Given the description of an element on the screen output the (x, y) to click on. 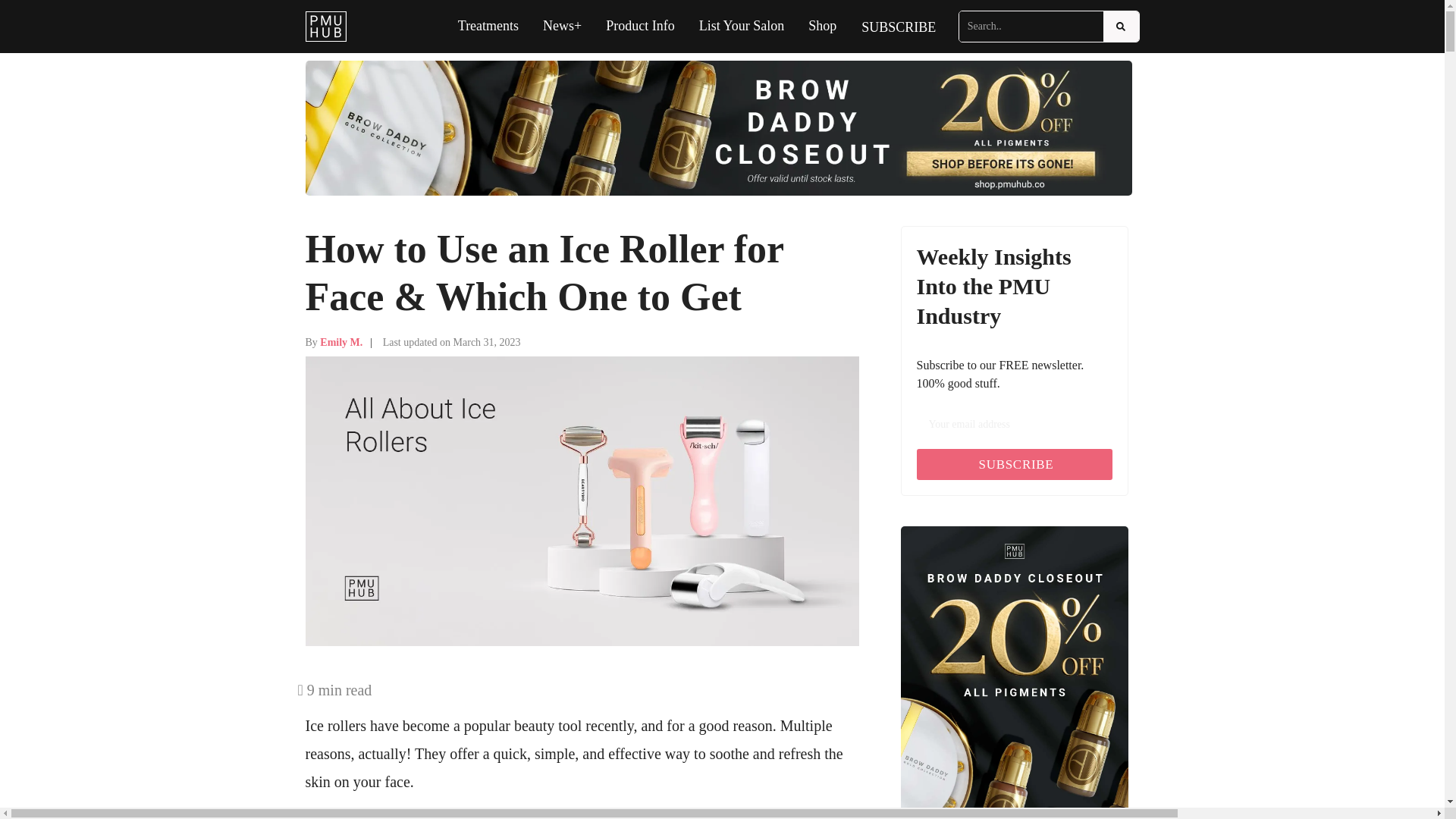
Emily M. (341, 342)
Shop (822, 26)
List Your Salon (741, 26)
SUBSCRIBE (898, 27)
Product Info (639, 26)
Treatments (488, 26)
